Given the description of an element on the screen output the (x, y) to click on. 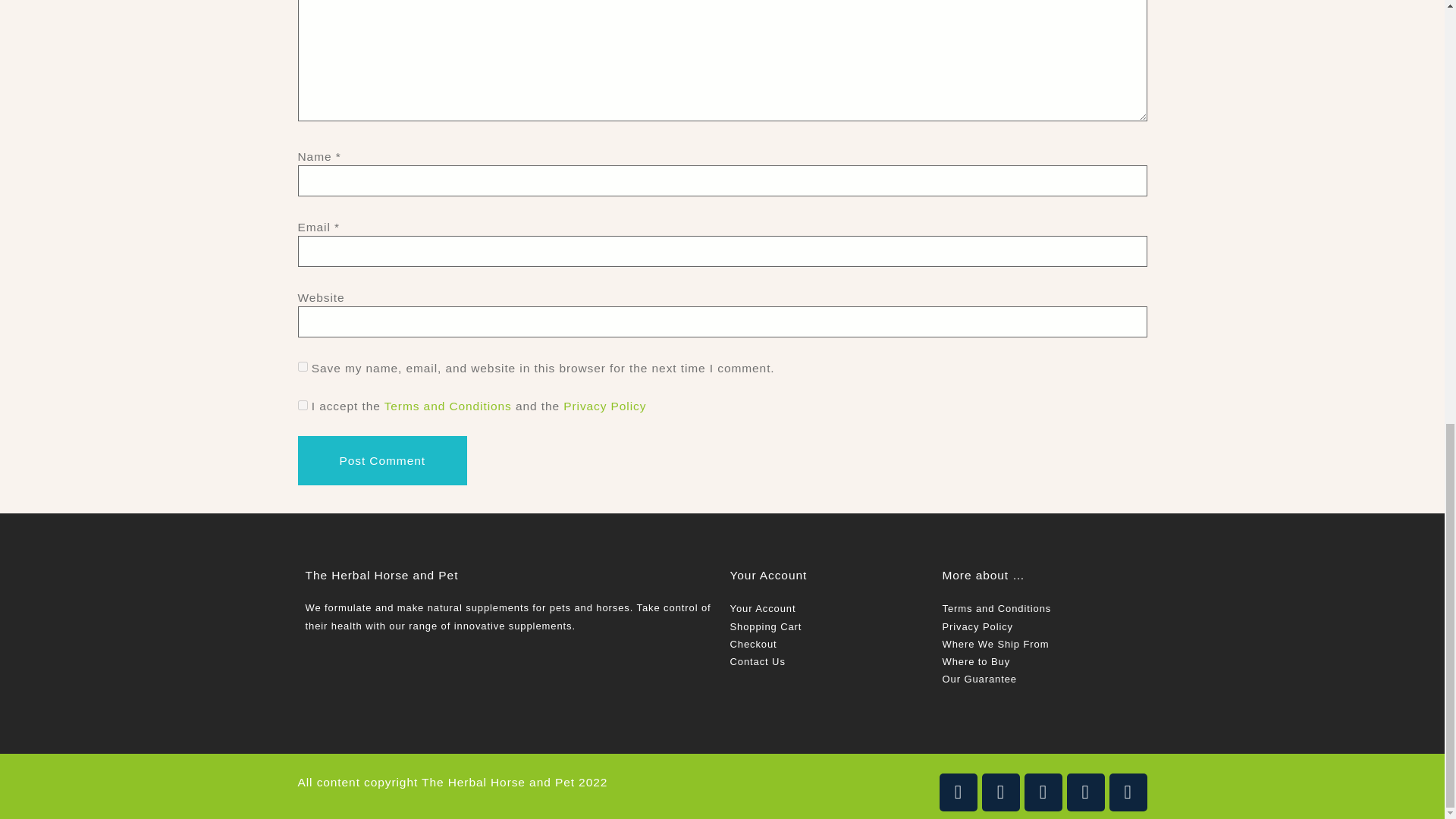
Privacy Policy (604, 405)
1 (302, 405)
Where to Buy (976, 661)
Checkout (752, 644)
Post Comment (381, 460)
yes (302, 366)
Terms and Conditions (996, 608)
Shopping Cart (765, 626)
Your Account (761, 608)
Contact Us (756, 661)
Post Comment (381, 460)
Privacy Policy (977, 626)
Terms and Conditions (448, 405)
Where We Ship From (995, 644)
Our Guarantee (979, 678)
